Given the description of an element on the screen output the (x, y) to click on. 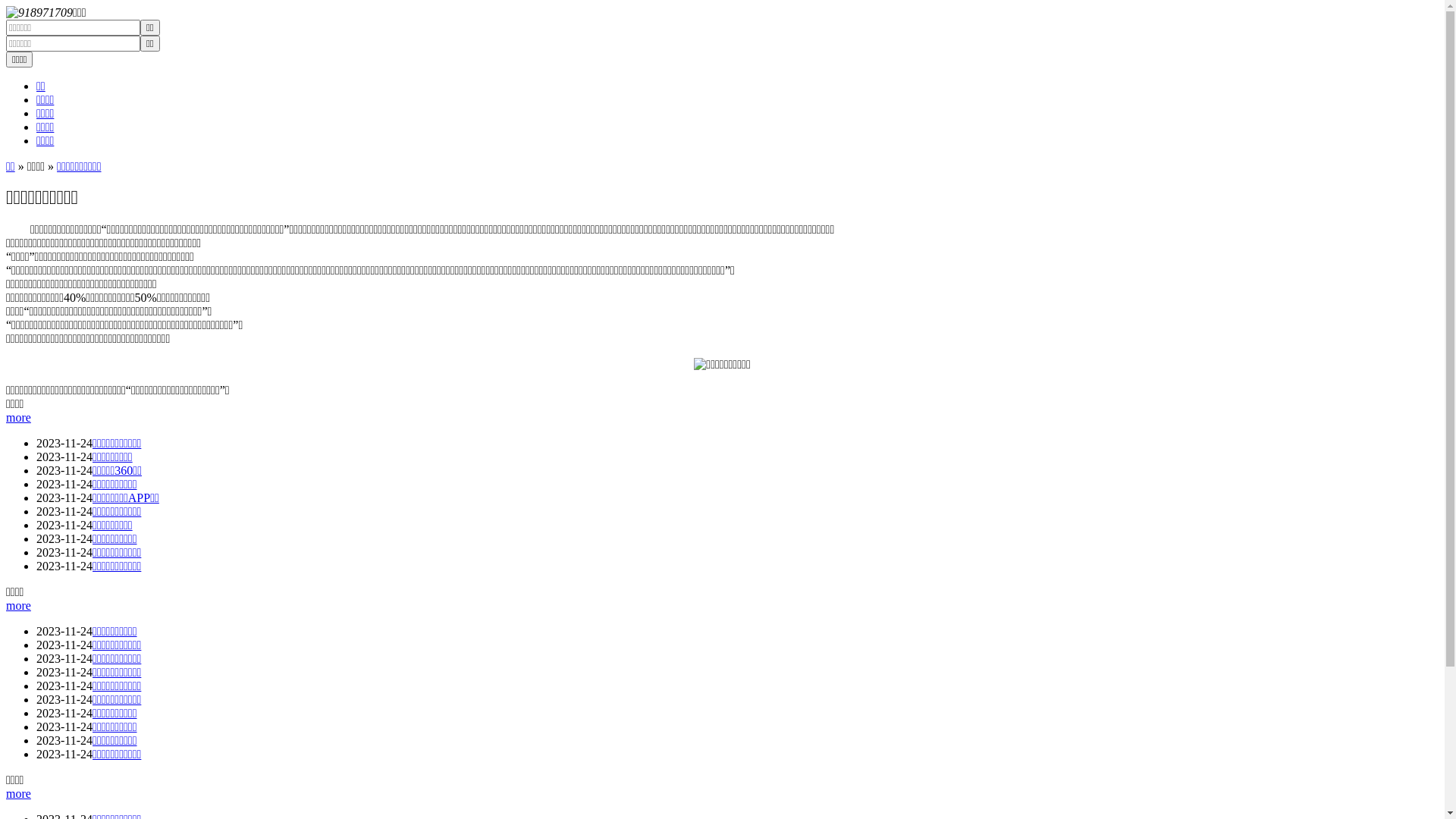
more Element type: text (18, 417)
more Element type: text (18, 605)
more Element type: text (18, 793)
